Given the description of an element on the screen output the (x, y) to click on. 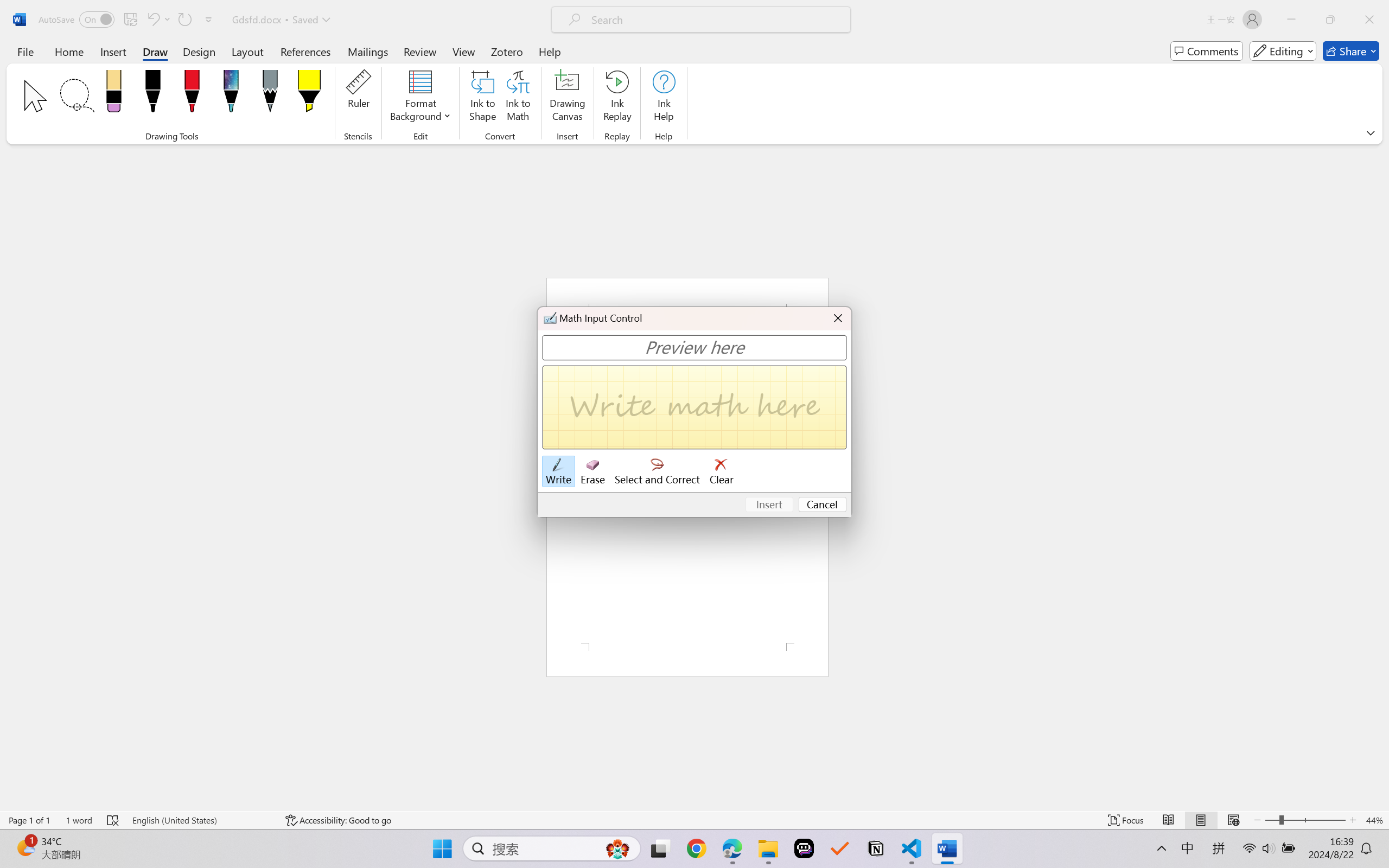
Cancel (822, 504)
Notion (875, 848)
